Given the description of an element on the screen output the (x, y) to click on. 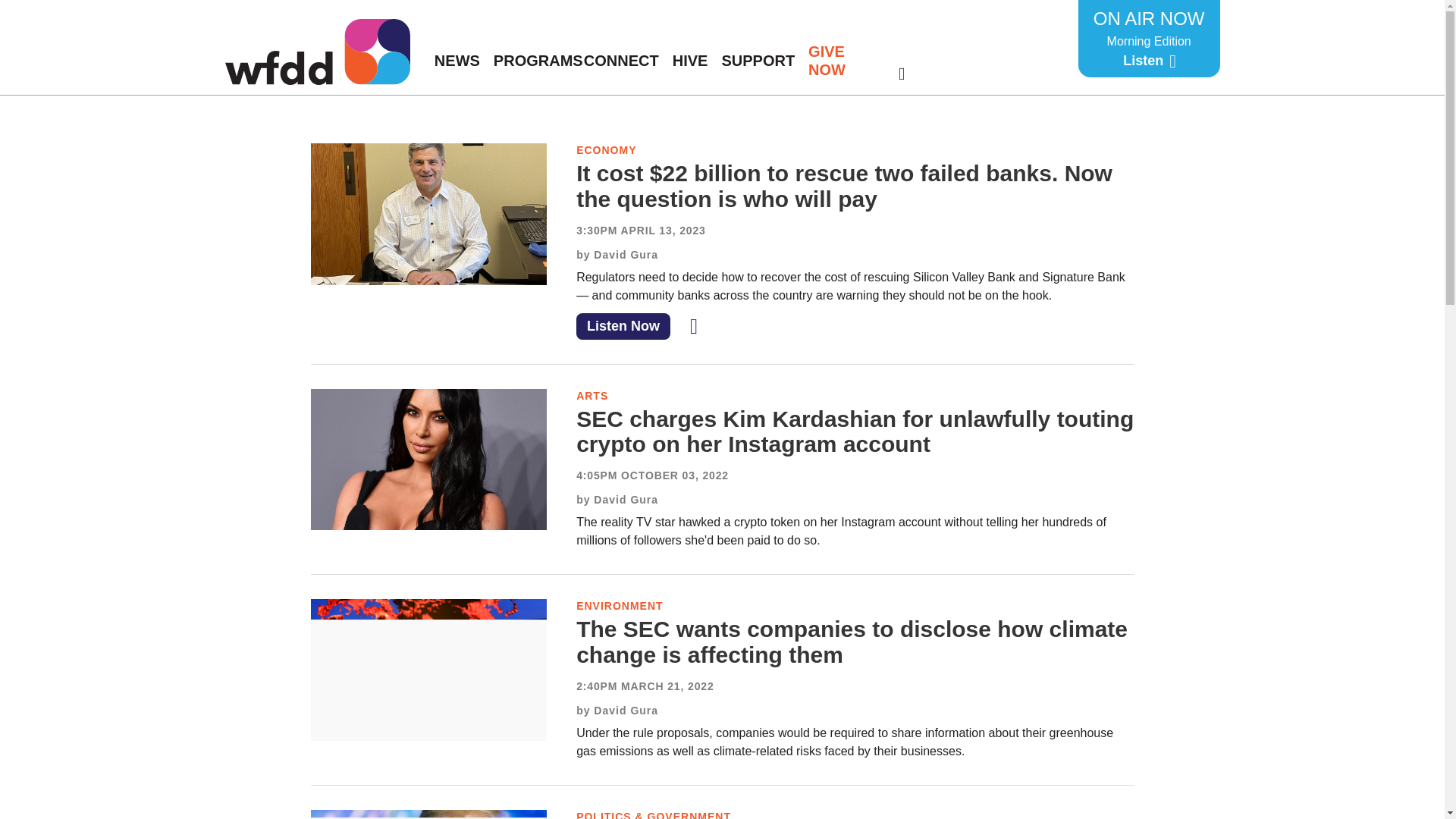
Home (316, 51)
